Given the description of an element on the screen output the (x, y) to click on. 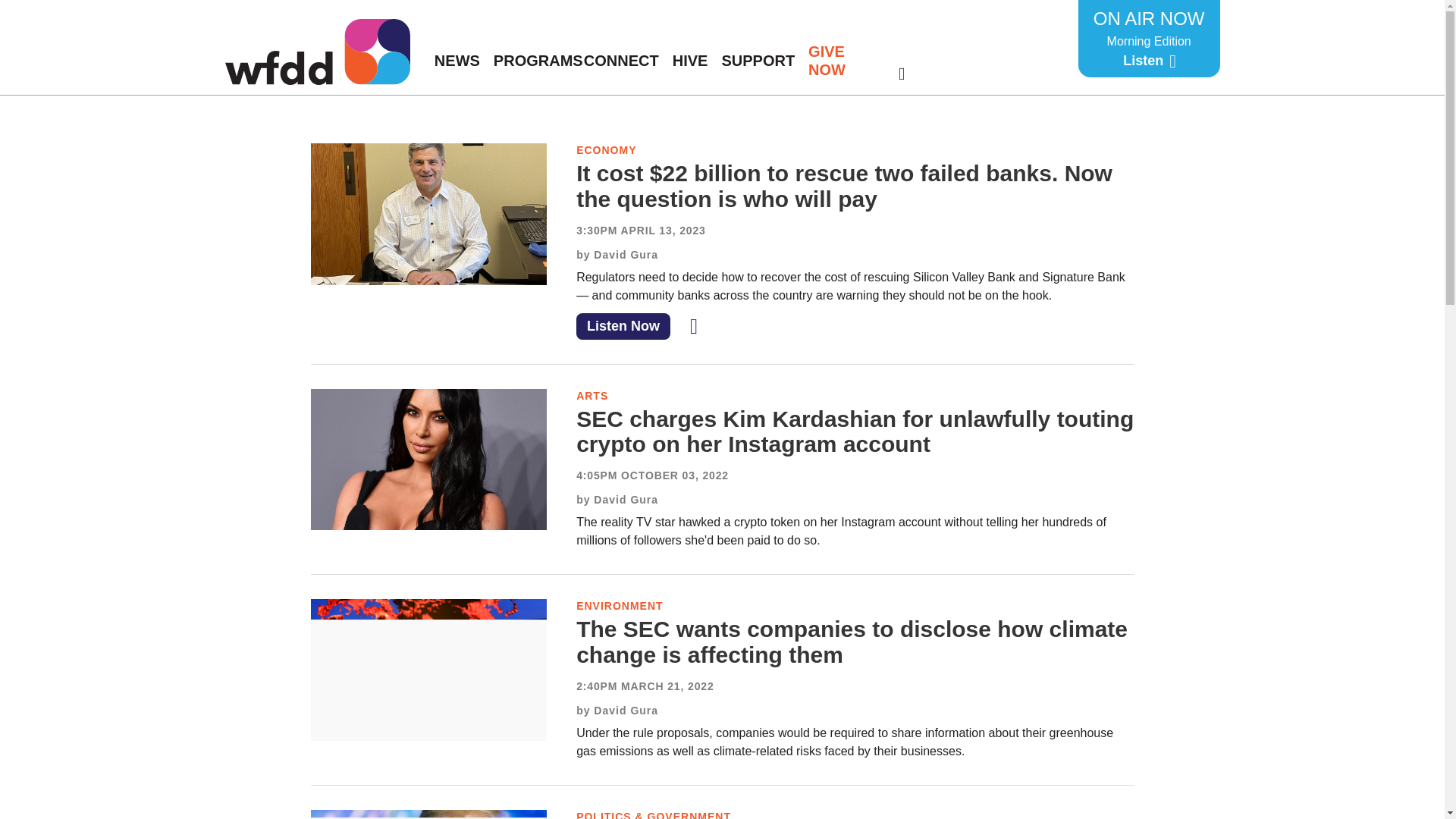
Home (316, 51)
